Given the description of an element on the screen output the (x, y) to click on. 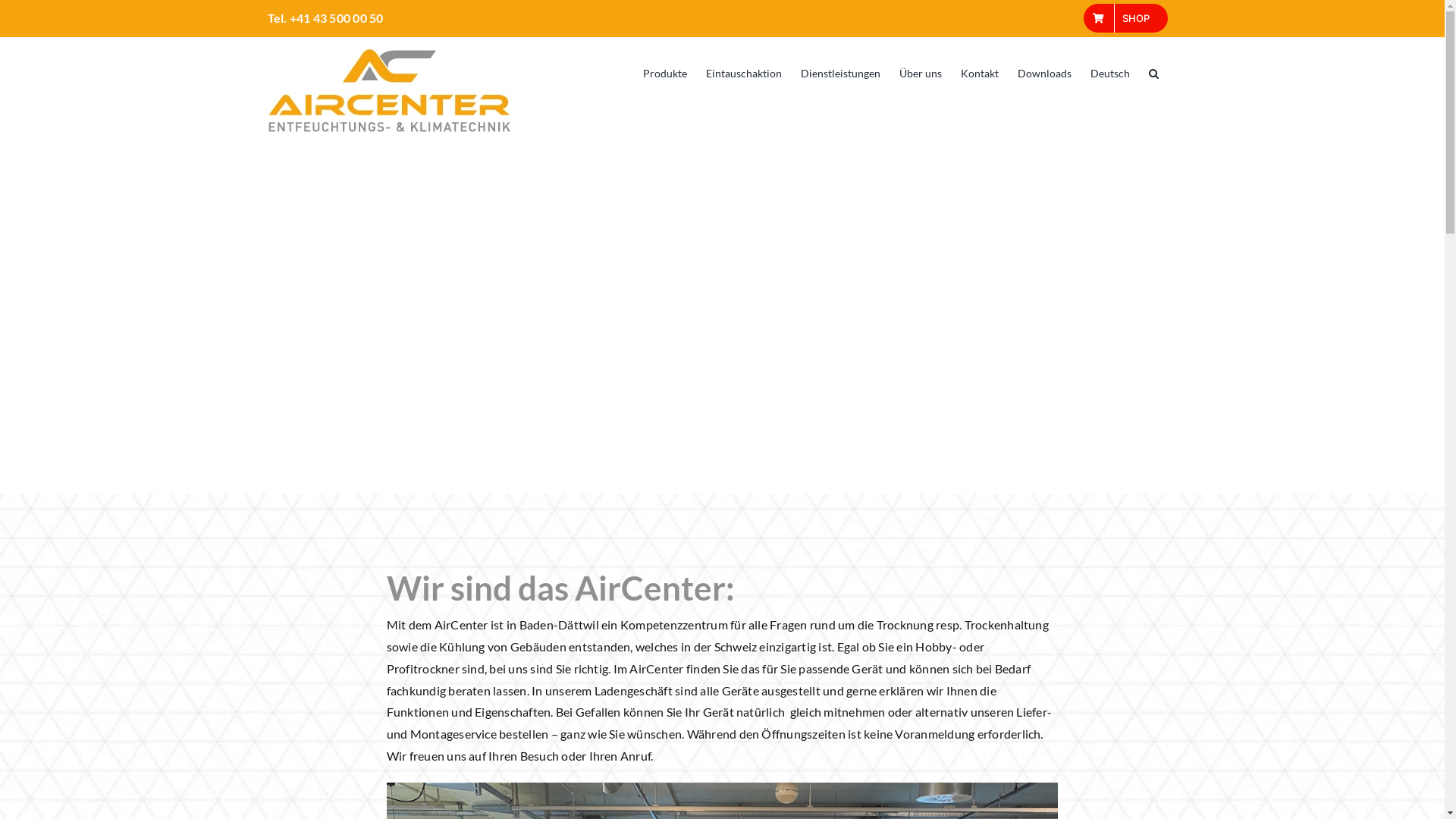
Suche Element type: hover (1152, 71)
Eintauschaktion Element type: text (743, 71)
SHOP Element type: text (1125, 18)
Produkte Element type: text (665, 71)
Kontakt Element type: text (978, 71)
Downloads Element type: text (1044, 71)
Deutsch Element type: text (1109, 71)
Dienstleistungen Element type: text (840, 71)
Tel. +41 43 500 00 50 Element type: text (324, 17)
